Given the description of an element on the screen output the (x, y) to click on. 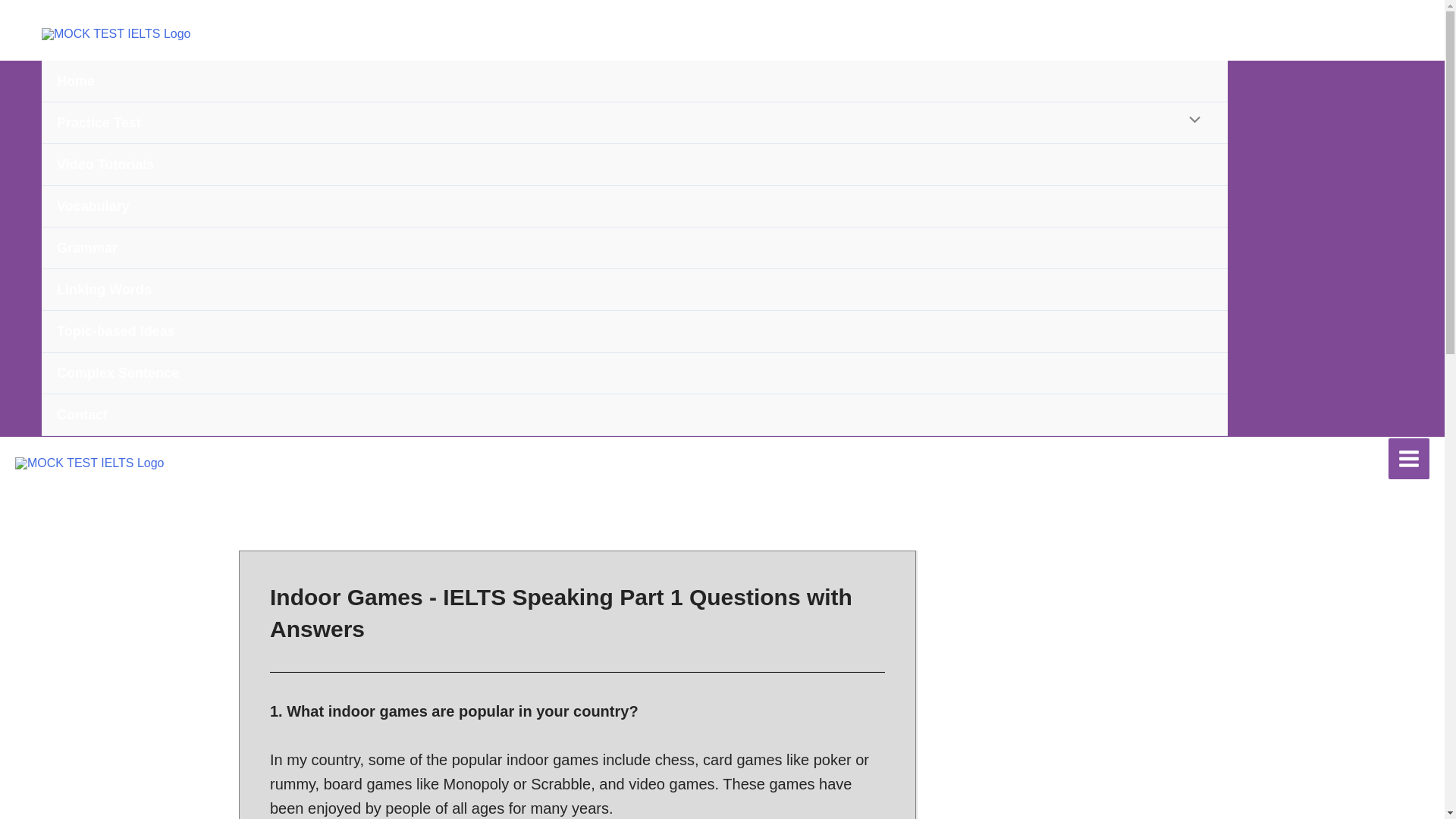
Linking Words (634, 290)
Topic-based Ideas (634, 331)
Contact (634, 414)
Menu Toggle (1191, 121)
Video Tutorials (634, 164)
Practice Test (634, 123)
Complex Sentence (634, 372)
Home (634, 81)
Vocabulary (634, 206)
Grammar (634, 248)
